Given the description of an element on the screen output the (x, y) to click on. 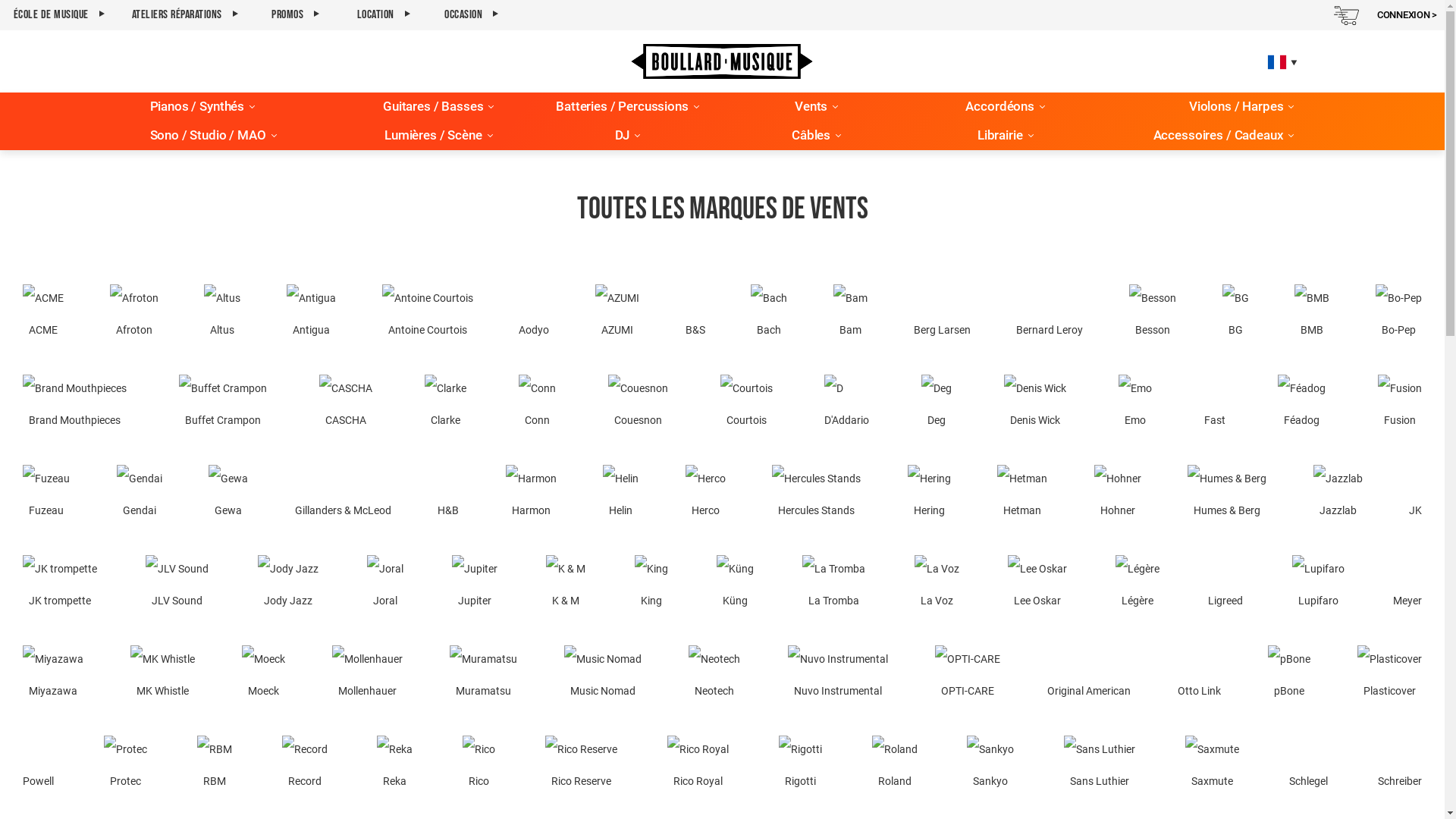
Rico Royal Element type: text (697, 765)
Occasion Element type: text (471, 15)
Schlegel Element type: text (1308, 765)
Hetman Element type: text (1021, 494)
Miyazawa Element type: text (53, 674)
Gewa Element type: text (227, 494)
JLV Sound Element type: text (177, 584)
OPTI-CARE Element type: text (967, 674)
pBone Element type: text (1288, 674)
Couesnon Element type: text (637, 404)
Aodyo Element type: text (533, 313)
King Element type: text (651, 584)
Emo Element type: text (1134, 404)
Sans Luthier Element type: text (1099, 765)
Brand Mouthpieces Element type: text (74, 404)
Humes & Berg Element type: text (1226, 494)
Joral Element type: text (385, 584)
Rigotti Element type: text (800, 765)
JK trompette Element type: text (59, 584)
Ligreed Element type: text (1225, 584)
Nuvo Instrumental Element type: text (837, 674)
Fuzeau Element type: text (46, 494)
Denis Wick Element type: text (1034, 404)
Herco Element type: text (705, 494)
La Tromba Element type: text (833, 584)
BMB Element type: text (1311, 313)
Batteries / Percussions Element type: text (621, 106)
CASCHA Element type: text (345, 404)
Altus Element type: text (221, 313)
DJ Element type: text (622, 135)
Otto Link Element type: text (1199, 674)
Hering Element type: text (928, 494)
K & M Element type: text (565, 584)
H&B Element type: text (447, 494)
Antigua Element type: text (311, 313)
AZUMI Element type: text (616, 313)
Bam Element type: text (850, 313)
Conn Element type: text (537, 404)
Rico Reserve Element type: text (580, 765)
Vents Element type: text (810, 106)
Gendai Element type: text (139, 494)
RBM Element type: text (214, 765)
Bach Element type: text (768, 313)
D'Addario Element type: text (846, 404)
Librairie Element type: text (999, 135)
Plasticover Element type: text (1389, 674)
Besson Element type: text (1152, 313)
Bernard Leroy Element type: text (1049, 313)
Promos Element type: text (295, 15)
Accessoires / Cadeaux Element type: text (1218, 135)
Clarke Element type: text (445, 404)
Powell Element type: text (38, 765)
Violons / Harpes Element type: text (1236, 106)
Jody Jazz Element type: text (288, 584)
Jazzlab Element type: text (1337, 494)
Hohner Element type: text (1116, 494)
Buffet Crampon Element type: text (222, 404)
Sono / Studio / MAO Element type: text (208, 135)
B&S Element type: text (694, 313)
Helin Element type: text (620, 494)
Music Nomad Element type: text (602, 674)
Schreiber Element type: text (1399, 765)
Reka Element type: text (394, 765)
Gillanders & McLeod Element type: text (342, 494)
Original American Element type: text (1088, 674)
Roland Element type: text (894, 765)
Afroton Element type: text (134, 313)
Meyer Element type: text (1407, 584)
Deg Element type: text (936, 404)
Saxmute Element type: text (1211, 765)
Antoine Courtois Element type: text (427, 313)
Harmon Element type: text (530, 494)
Hercules Stands Element type: text (816, 494)
Rico Element type: text (478, 765)
Jupiter Element type: text (474, 584)
Protec Element type: text (125, 765)
Mollenhauer Element type: text (367, 674)
Muramatsu Element type: text (483, 674)
La Voz Element type: text (936, 584)
MK Whistle Element type: text (162, 674)
JK Element type: text (1415, 494)
Guitares / Basses Element type: text (432, 106)
ACME Element type: text (43, 313)
Record Element type: text (304, 765)
Lupifaro Element type: text (1318, 584)
BG Element type: text (1235, 313)
Fusion Element type: text (1399, 404)
Courtois Element type: text (746, 404)
Sankyo Element type: text (990, 765)
Fast Element type: text (1214, 404)
Lee Oskar Element type: text (1037, 584)
CONNEXION > Element type: text (1406, 14)
Berg Larsen Element type: text (942, 313)
Neotech Element type: text (713, 674)
Location Element type: text (383, 15)
Bo-Pep Element type: text (1398, 313)
Moeck Element type: text (263, 674)
